Given the description of an element on the screen output the (x, y) to click on. 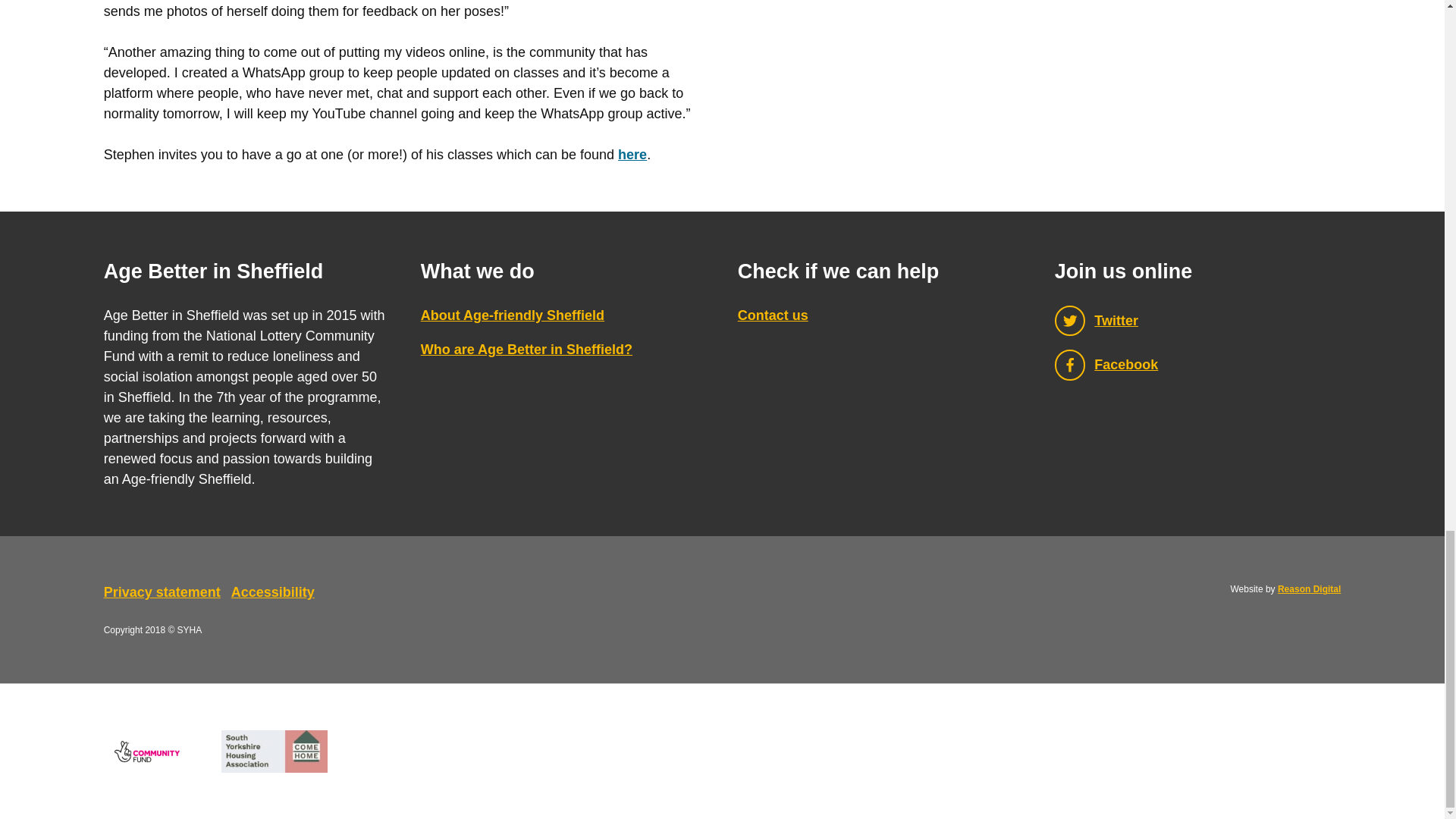
Facebook (1197, 364)
here (631, 154)
About Age-friendly Sheffield (512, 314)
Who are Age Better in Sheffield? (525, 349)
Contact us (773, 314)
Twitter (1197, 320)
